Given the description of an element on the screen output the (x, y) to click on. 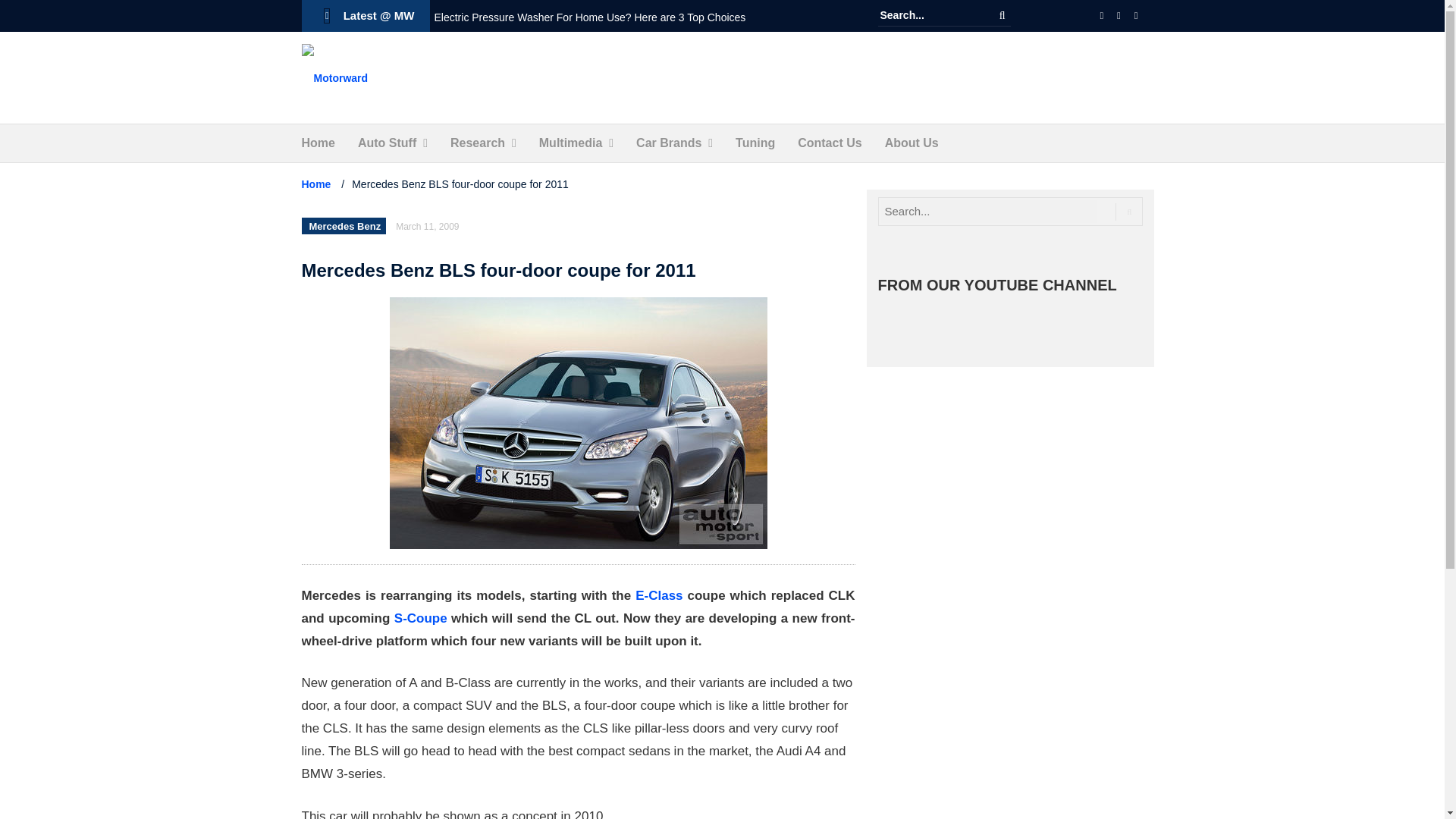
Multimedia (570, 143)
Car Brands (668, 143)
Research (477, 143)
Home (317, 143)
Auto Stuff (387, 143)
122107 (578, 422)
Search   (1002, 14)
